Given the description of an element on the screen output the (x, y) to click on. 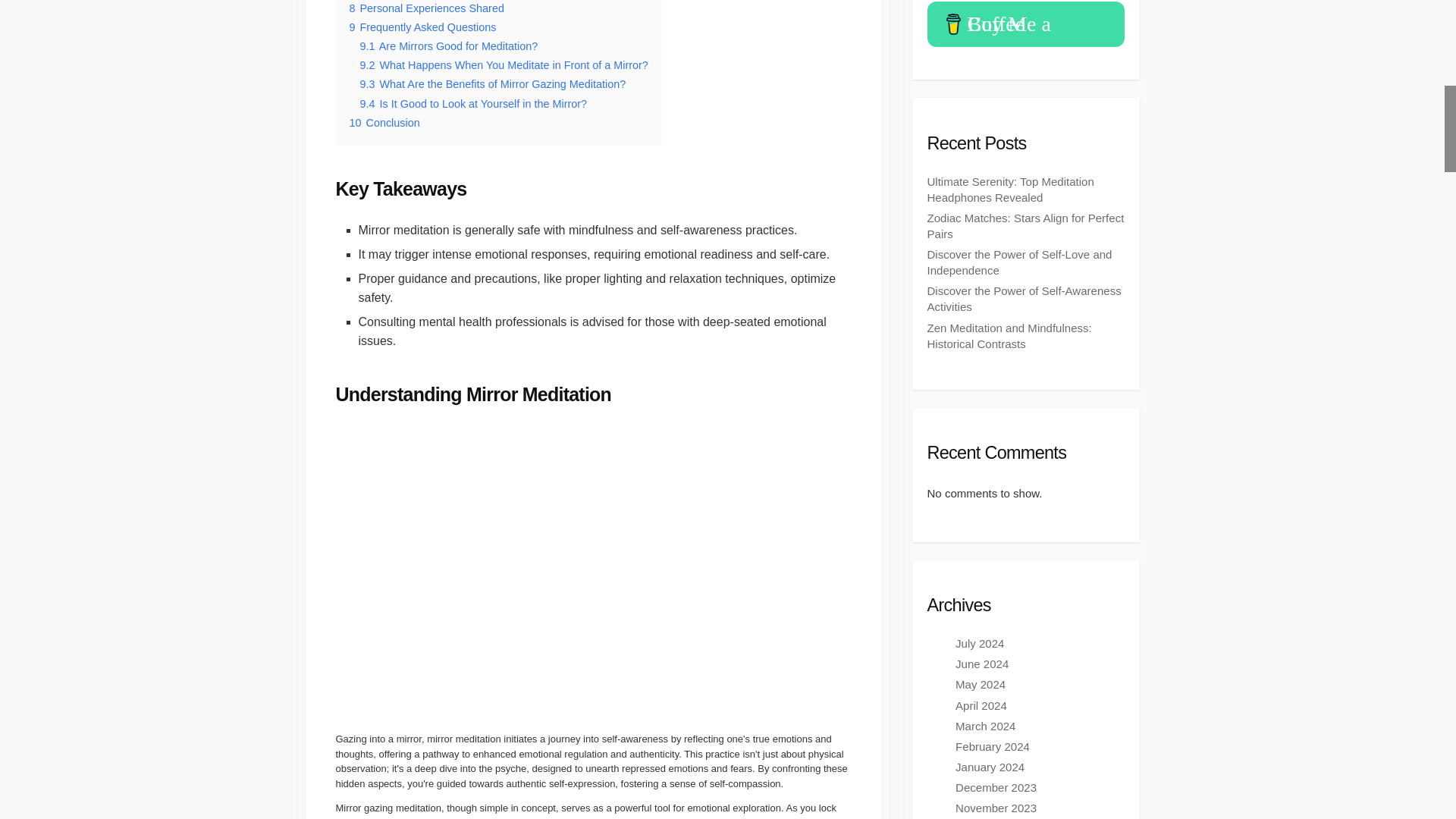
9.1 Are Mirrors Good for Meditation? (448, 46)
9.4 Is It Good to Look at Yourself in the Mirror? (472, 103)
9.2 What Happens When You Meditate in Front of a Mirror? (503, 64)
9.3 What Are the Benefits of Mirror Gazing Meditation? (492, 83)
9 Frequently Asked Questions (422, 27)
10 Conclusion (384, 122)
8 Personal Experiences Shared (426, 8)
